Given the description of an element on the screen output the (x, y) to click on. 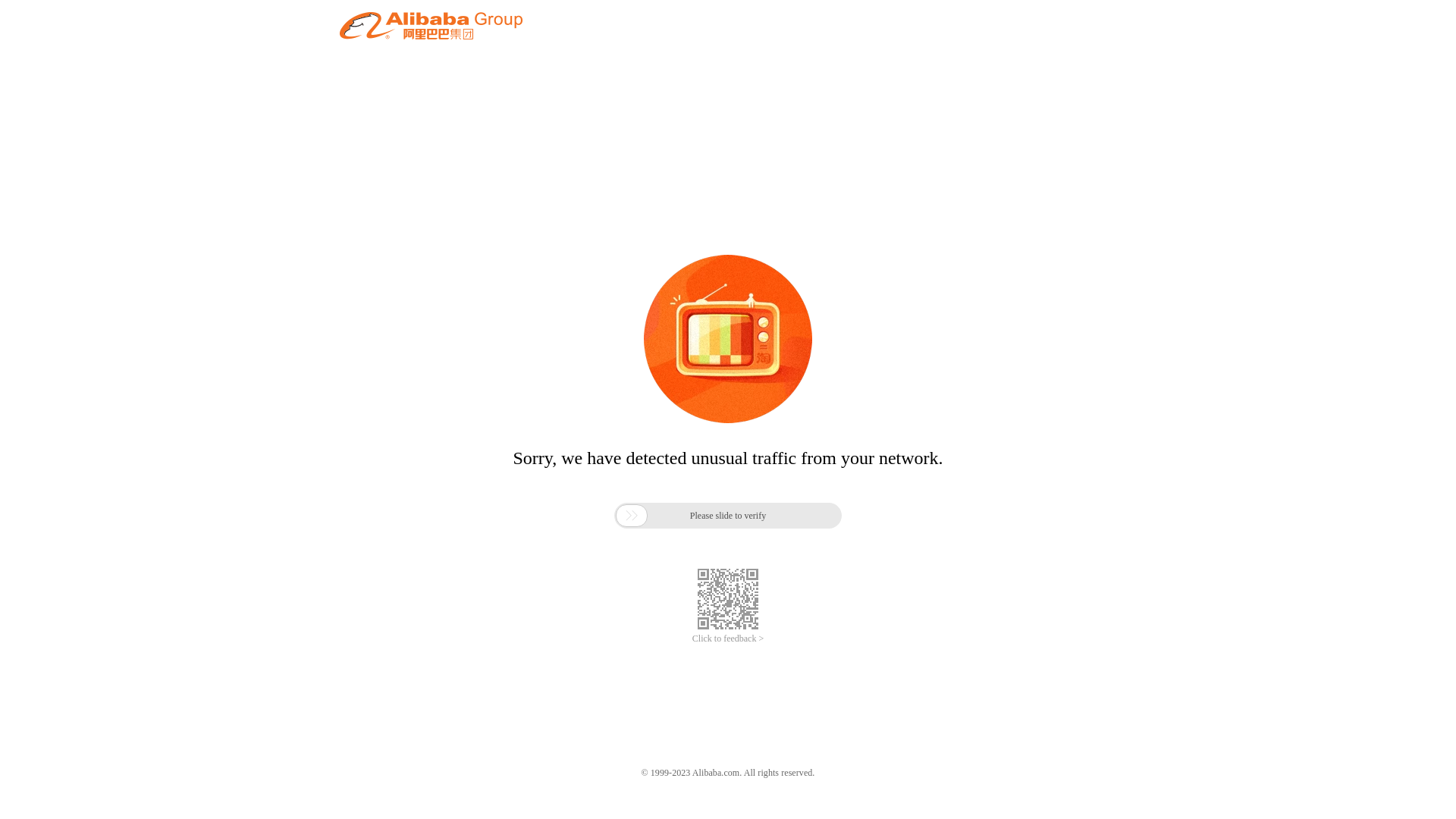
Click to feedback > Element type: text (727, 638)
